Given the description of an element on the screen output the (x, y) to click on. 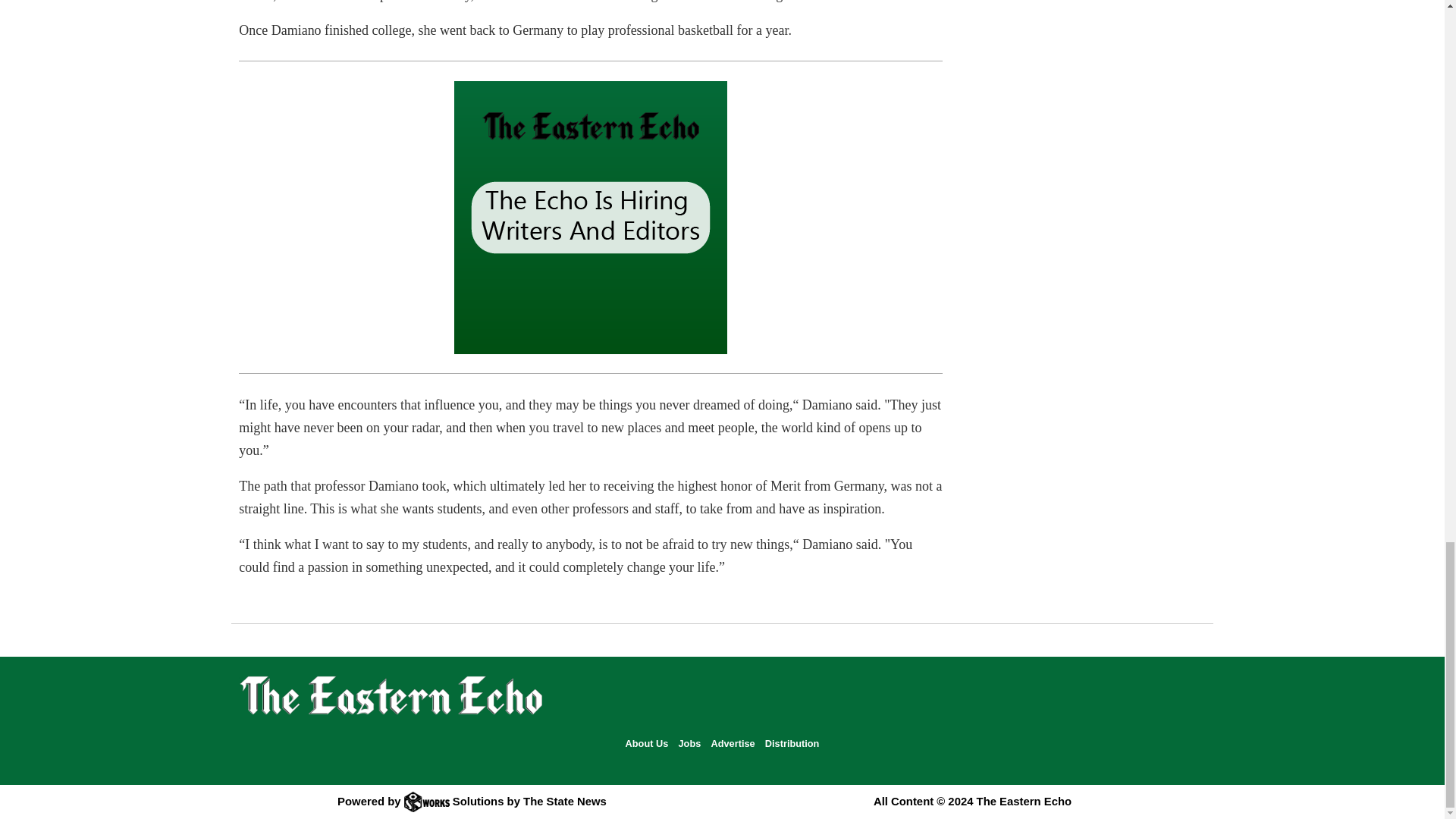
ECHO AD 2 The Echo is Hiring Writers and Editors (590, 217)
